Given the description of an element on the screen output the (x, y) to click on. 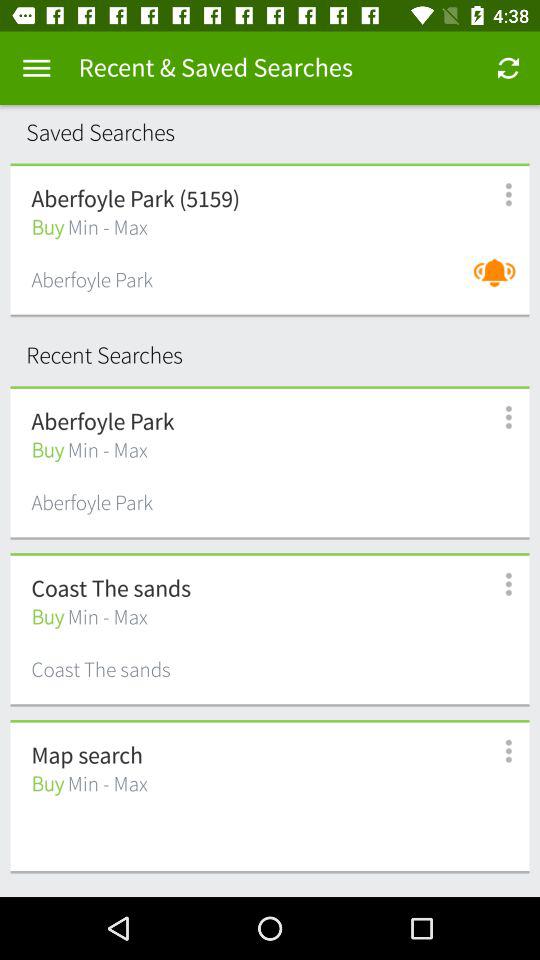
turn off icon next to aberfoyle park item (499, 282)
